Given the description of an element on the screen output the (x, y) to click on. 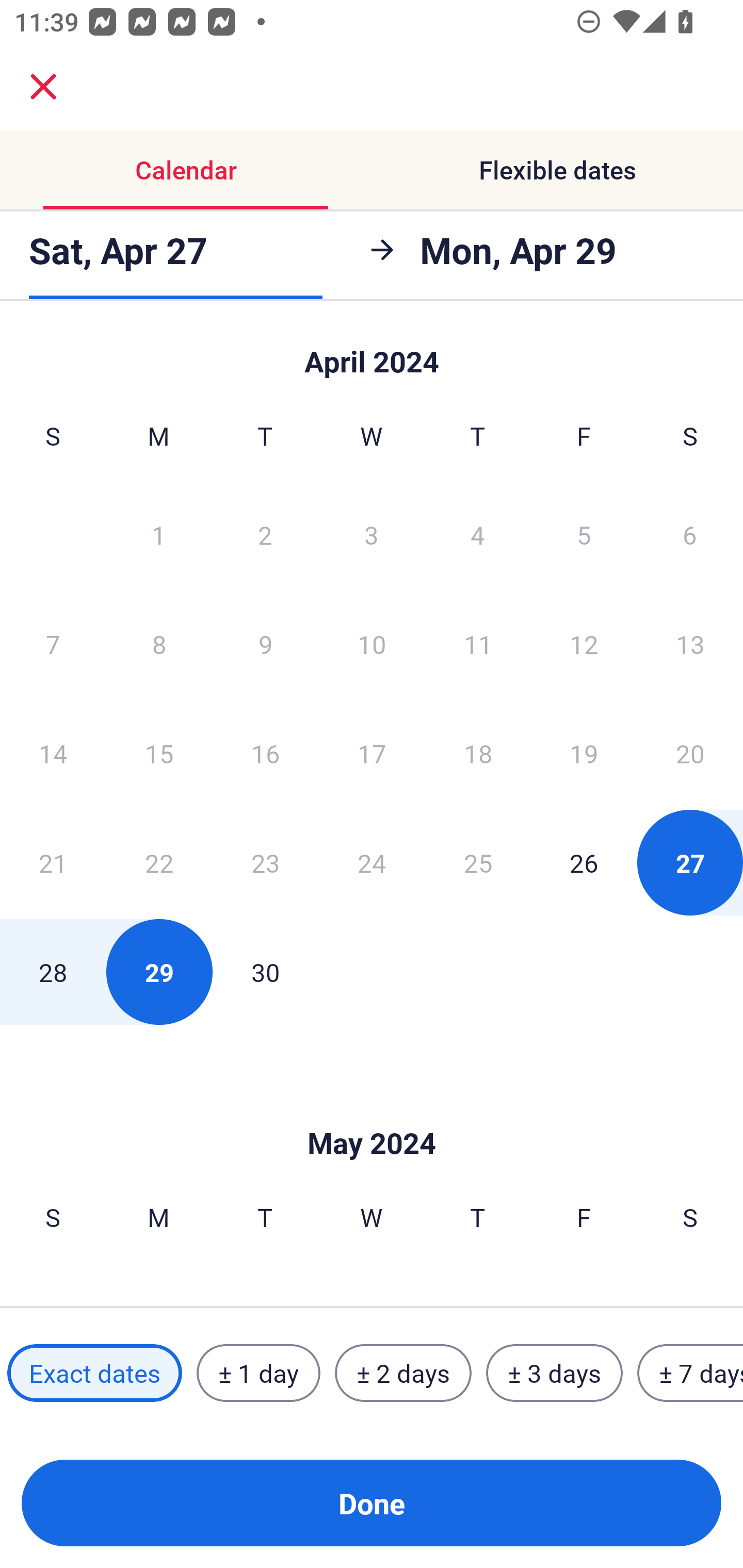
close. (43, 86)
Flexible dates (557, 170)
Skip to Done (371, 352)
1 Monday, April 1, 2024 (158, 534)
2 Tuesday, April 2, 2024 (264, 534)
3 Wednesday, April 3, 2024 (371, 534)
4 Thursday, April 4, 2024 (477, 534)
5 Friday, April 5, 2024 (583, 534)
6 Saturday, April 6, 2024 (689, 534)
7 Sunday, April 7, 2024 (53, 643)
8 Monday, April 8, 2024 (159, 643)
9 Tuesday, April 9, 2024 (265, 643)
10 Wednesday, April 10, 2024 (371, 643)
11 Thursday, April 11, 2024 (477, 643)
12 Friday, April 12, 2024 (584, 643)
13 Saturday, April 13, 2024 (690, 643)
14 Sunday, April 14, 2024 (53, 752)
15 Monday, April 15, 2024 (159, 752)
16 Tuesday, April 16, 2024 (265, 752)
17 Wednesday, April 17, 2024 (371, 752)
18 Thursday, April 18, 2024 (477, 752)
19 Friday, April 19, 2024 (584, 752)
20 Saturday, April 20, 2024 (690, 752)
21 Sunday, April 21, 2024 (53, 862)
22 Monday, April 22, 2024 (159, 862)
23 Tuesday, April 23, 2024 (265, 862)
24 Wednesday, April 24, 2024 (371, 862)
25 Thursday, April 25, 2024 (477, 862)
26 Friday, April 26, 2024 (584, 862)
30 Tuesday, April 30, 2024 (265, 971)
Skip to Done (371, 1112)
Exact dates (94, 1372)
± 1 day (258, 1372)
± 2 days (403, 1372)
± 3 days (553, 1372)
± 7 days (690, 1372)
Done (371, 1502)
